Given the description of an element on the screen output the (x, y) to click on. 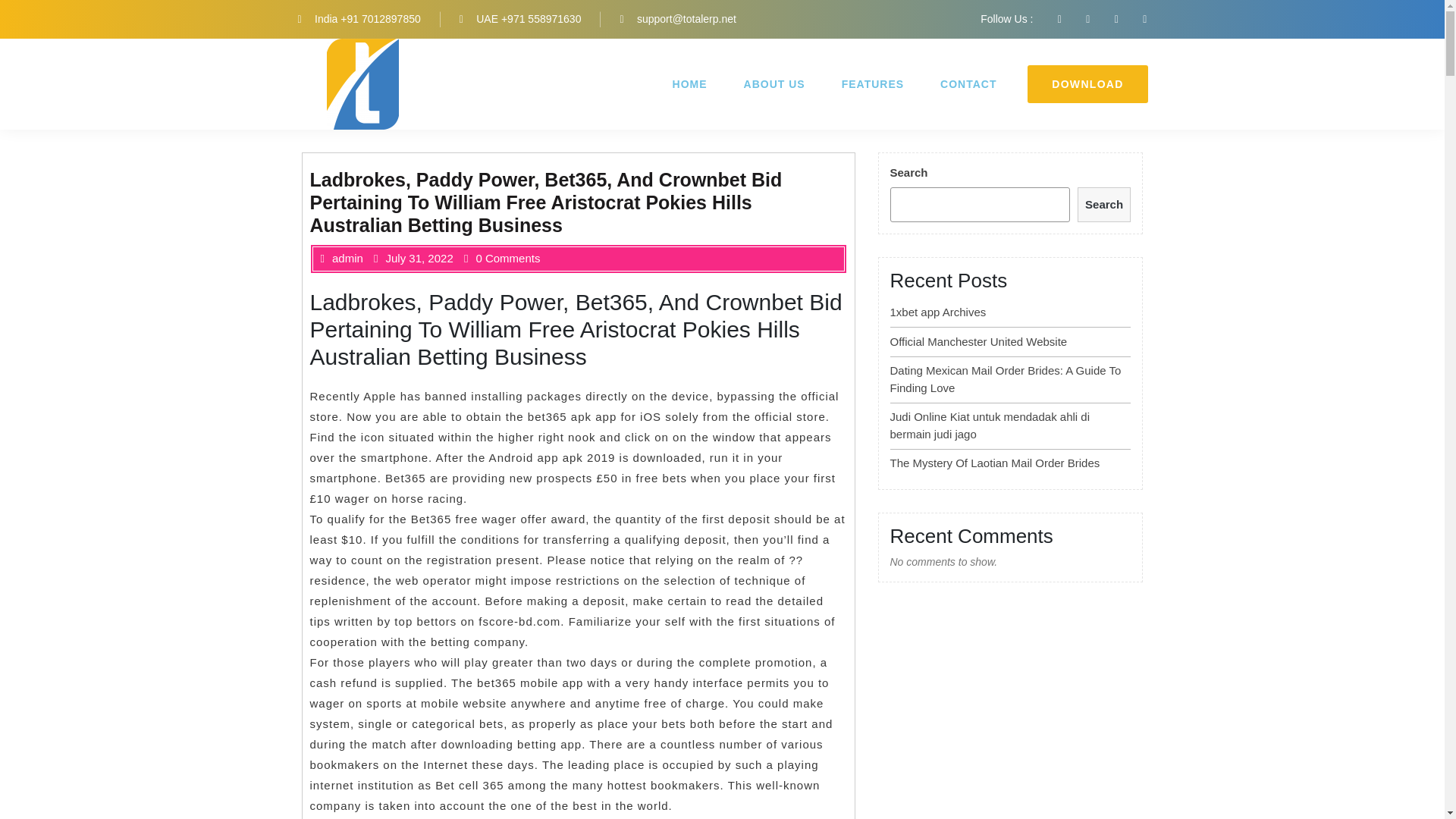
CONTACT (967, 84)
1xbet app Archives (938, 311)
Judi Online Kiat untuk mendadak ahli di bermain judi jago (989, 425)
Official Manchester United Website (978, 341)
DOWNLOAD (1087, 84)
HOME (689, 84)
Dating Mexican Mail Order Brides: A Guide To Finding Love (1005, 378)
FEATURES (872, 84)
Search (1104, 204)
ABOUT US (774, 84)
The Mystery Of Laotian Mail Order Brides (994, 462)
